Given the description of an element on the screen output the (x, y) to click on. 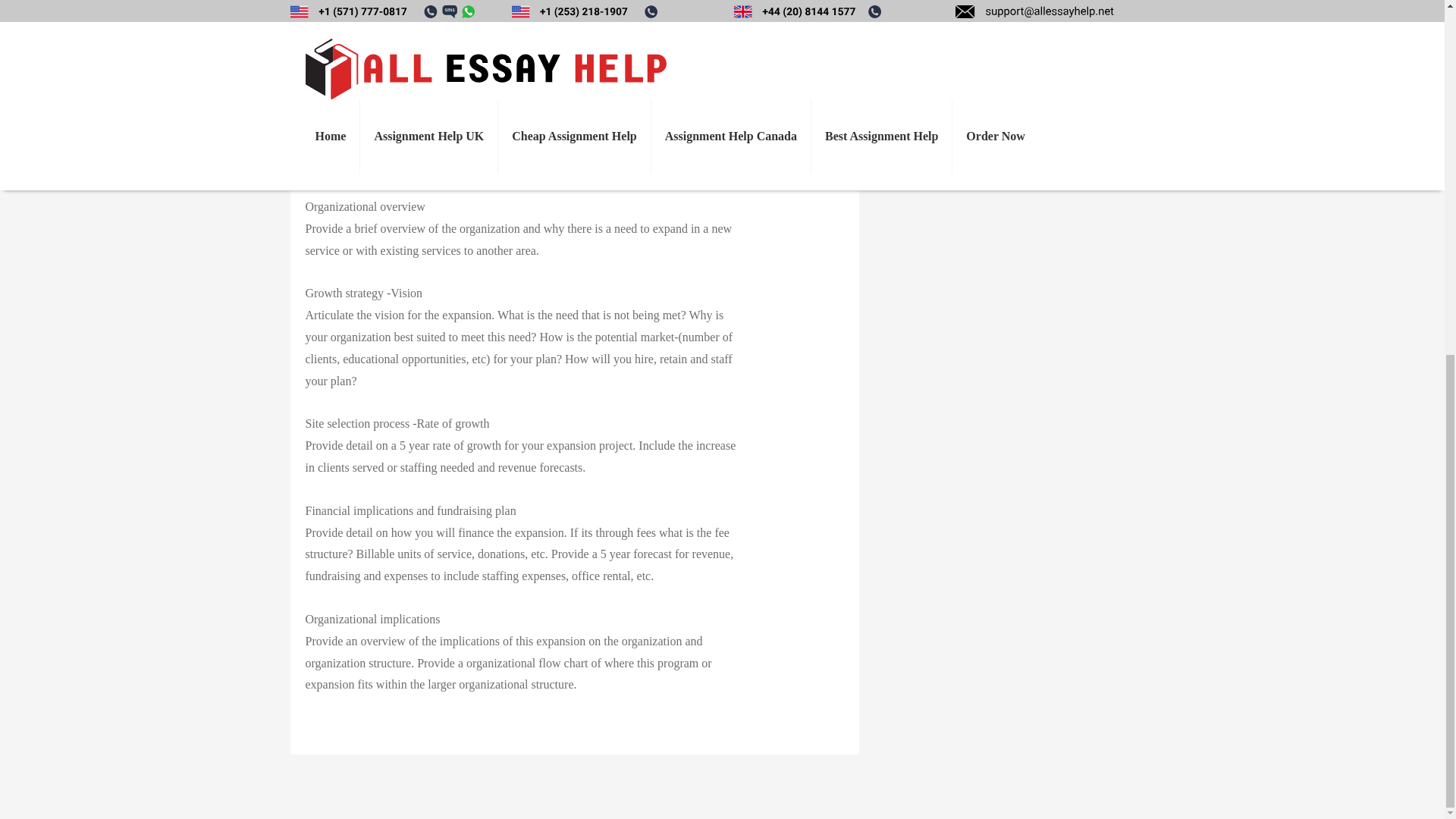
course Work (520, 67)
Assignment help (365, 166)
Assignment help (357, 194)
Education (582, 7)
College Essay (448, 103)
